Given the description of an element on the screen output the (x, y) to click on. 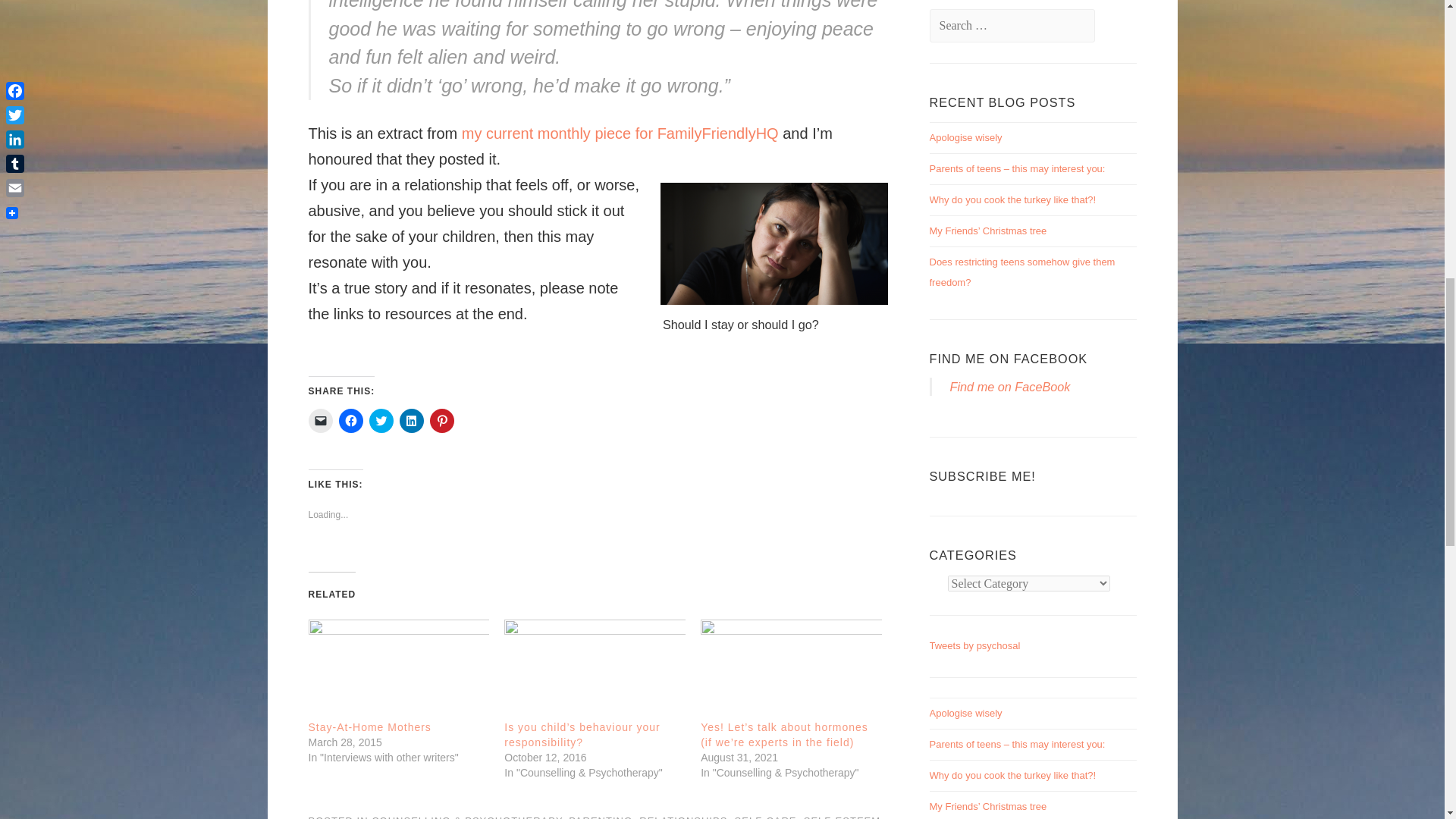
Click to email a link to a friend (319, 420)
Stay-At-Home Mothers (398, 667)
Click to share on Facebook (349, 420)
Click to share on LinkedIn (410, 420)
Stay-At-Home Mothers (368, 727)
my current monthly piece for FamilyFriendlyHQ (622, 133)
Click to share on Twitter (380, 420)
Stay-At-Home Mothers (368, 727)
Click to share on Pinterest (440, 420)
